Given the description of an element on the screen output the (x, y) to click on. 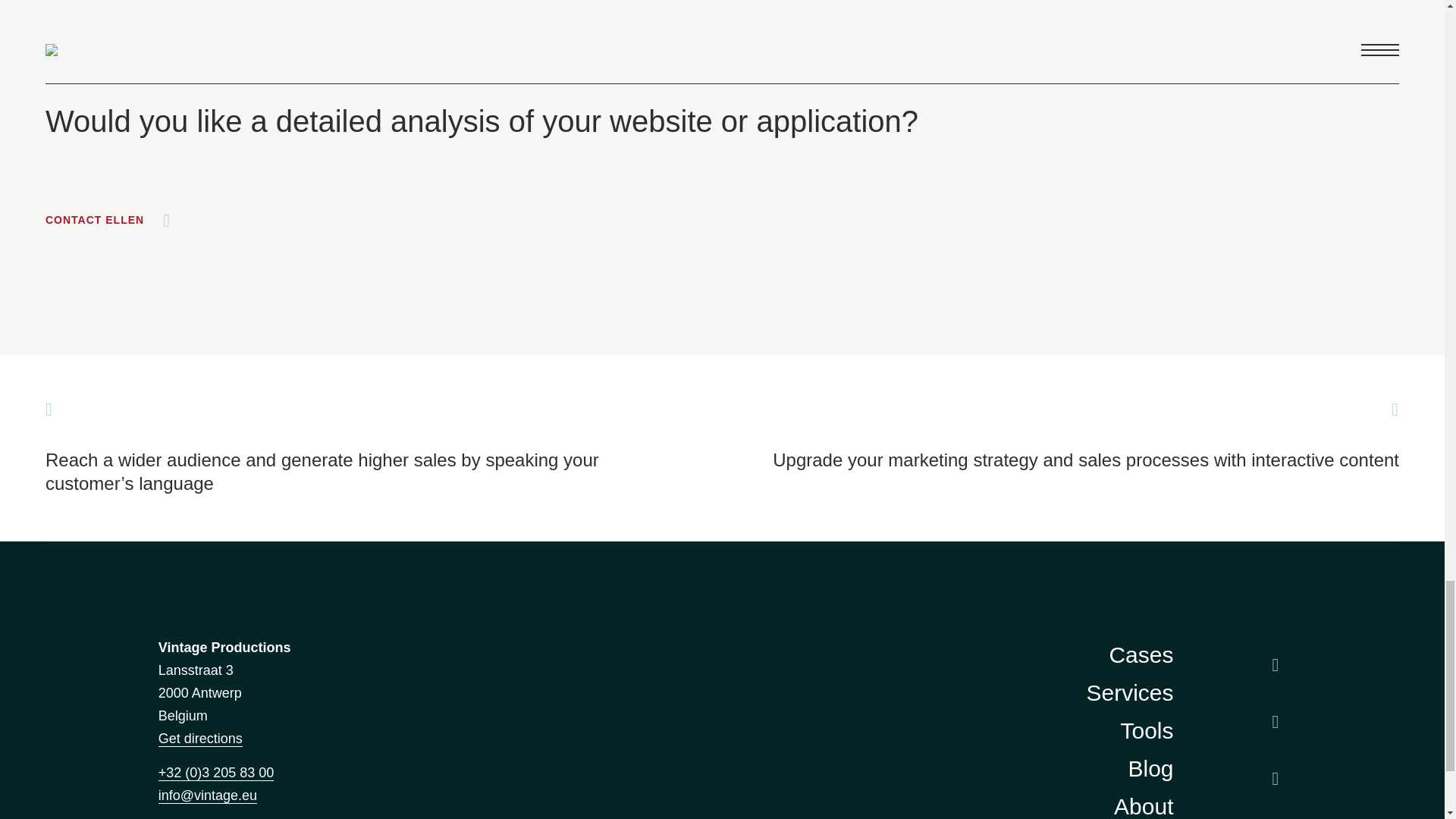
Tools (1146, 730)
CONTACT ELLEN (107, 220)
Get directions (200, 738)
About (1143, 806)
Cases (1140, 655)
Services (1129, 692)
Blog (1149, 768)
